Given the description of an element on the screen output the (x, y) to click on. 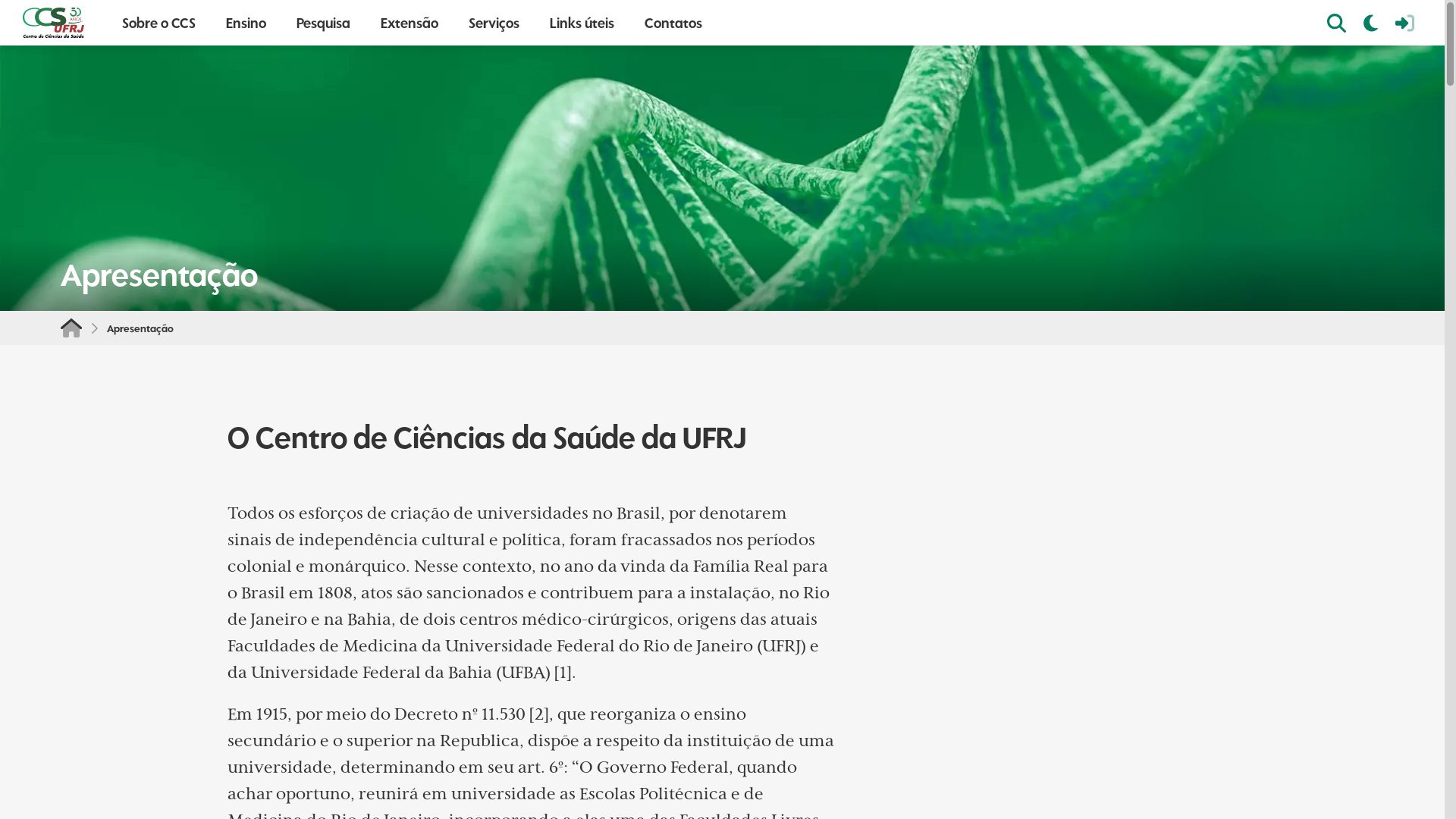
Contatos Element type: text (673, 22)
